Given the description of an element on the screen output the (x, y) to click on. 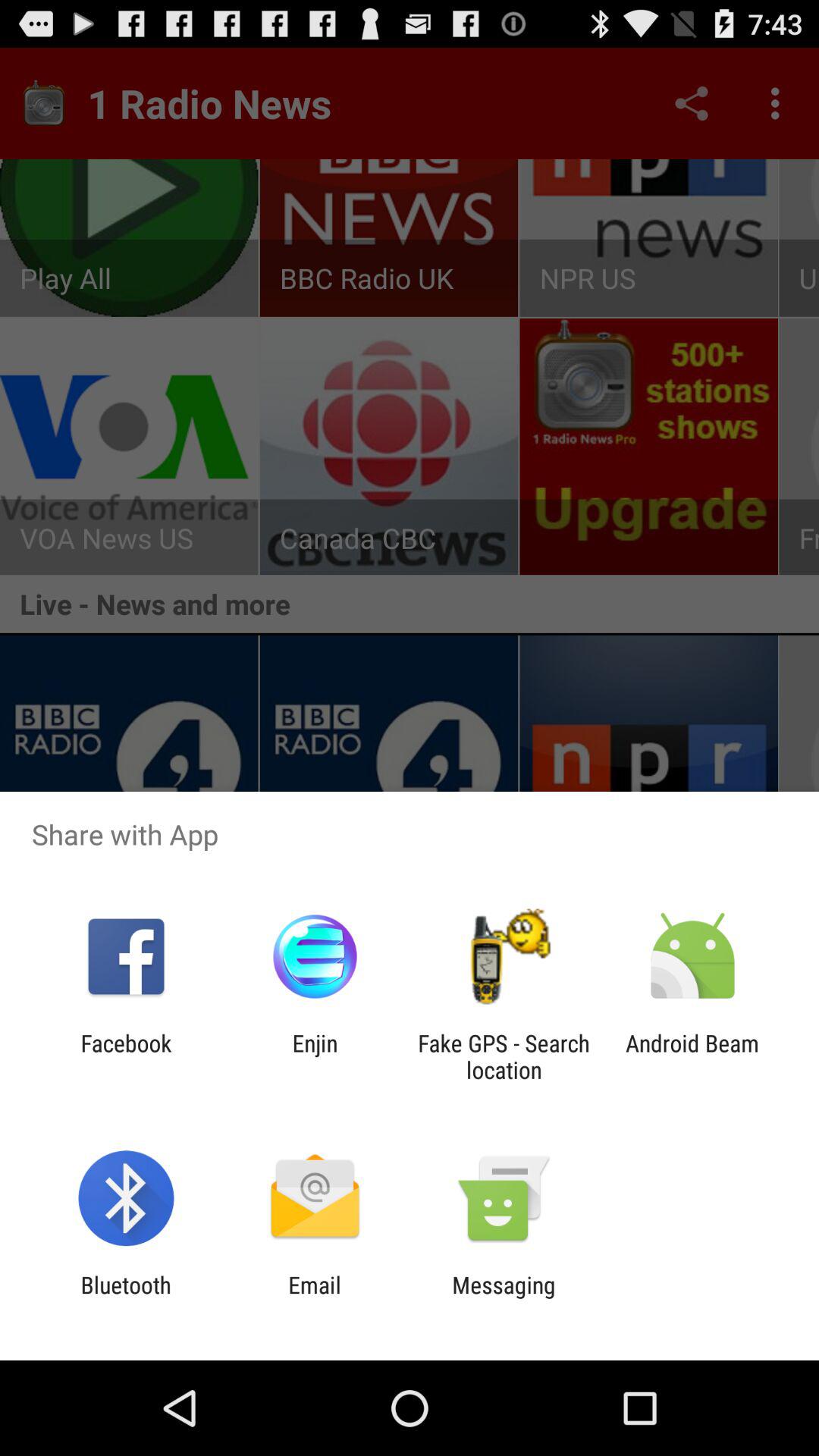
click the item at the bottom right corner (692, 1056)
